Given the description of an element on the screen output the (x, y) to click on. 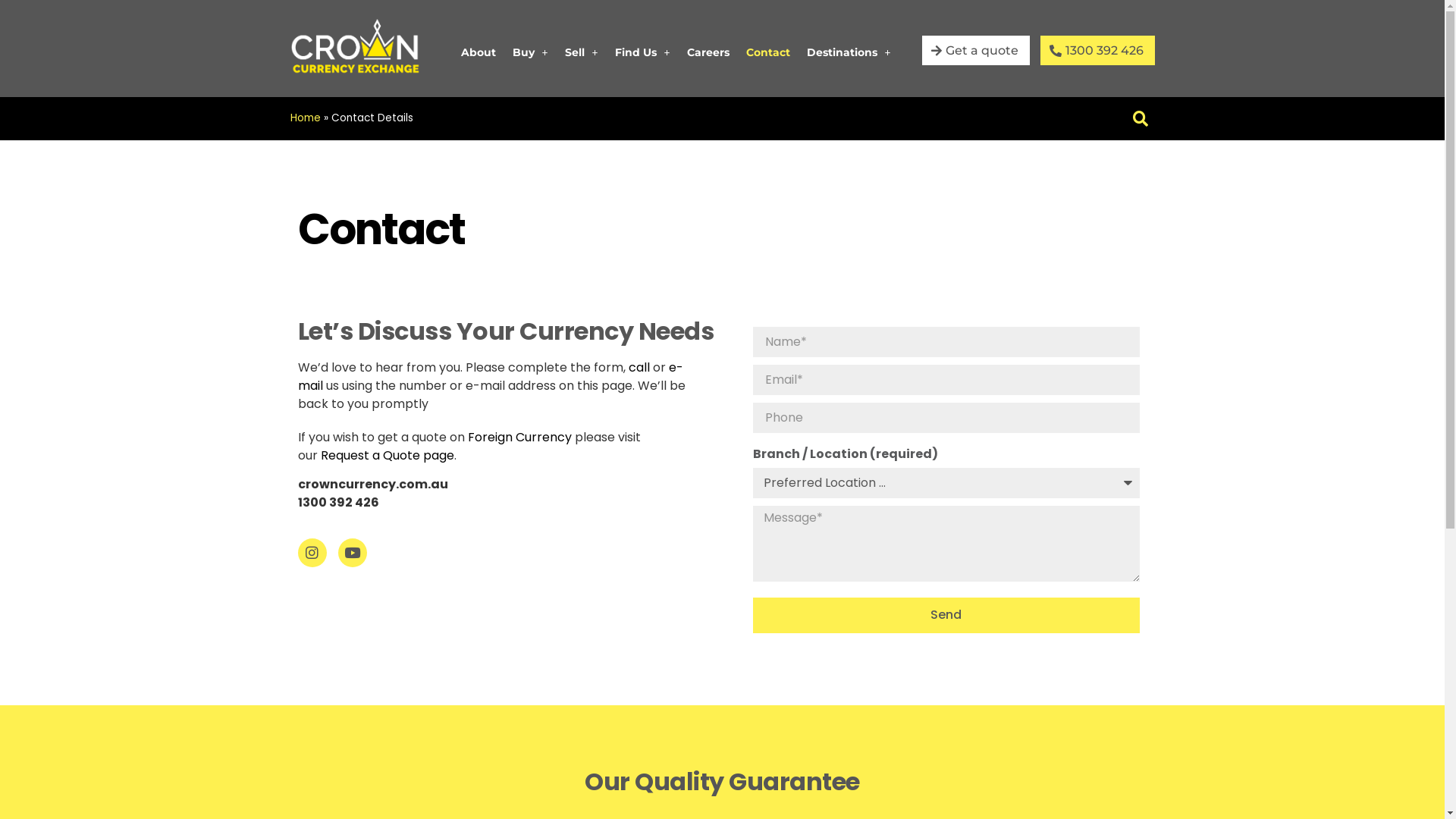
About Element type: text (478, 51)
Buy Element type: text (530, 51)
Home Element type: text (304, 117)
Sell Element type: text (581, 51)
e-mail Element type: text (489, 376)
Contact Element type: text (767, 51)
1300 392 426 Element type: text (1097, 50)
Foreign Currency Element type: text (519, 436)
Destinations Element type: text (848, 51)
call Element type: text (638, 367)
Careers Element type: text (707, 51)
Send Element type: text (945, 615)
Find Us Element type: text (642, 51)
Get a quote Element type: text (975, 50)
Request a Quote page Element type: text (386, 455)
